Given the description of an element on the screen output the (x, y) to click on. 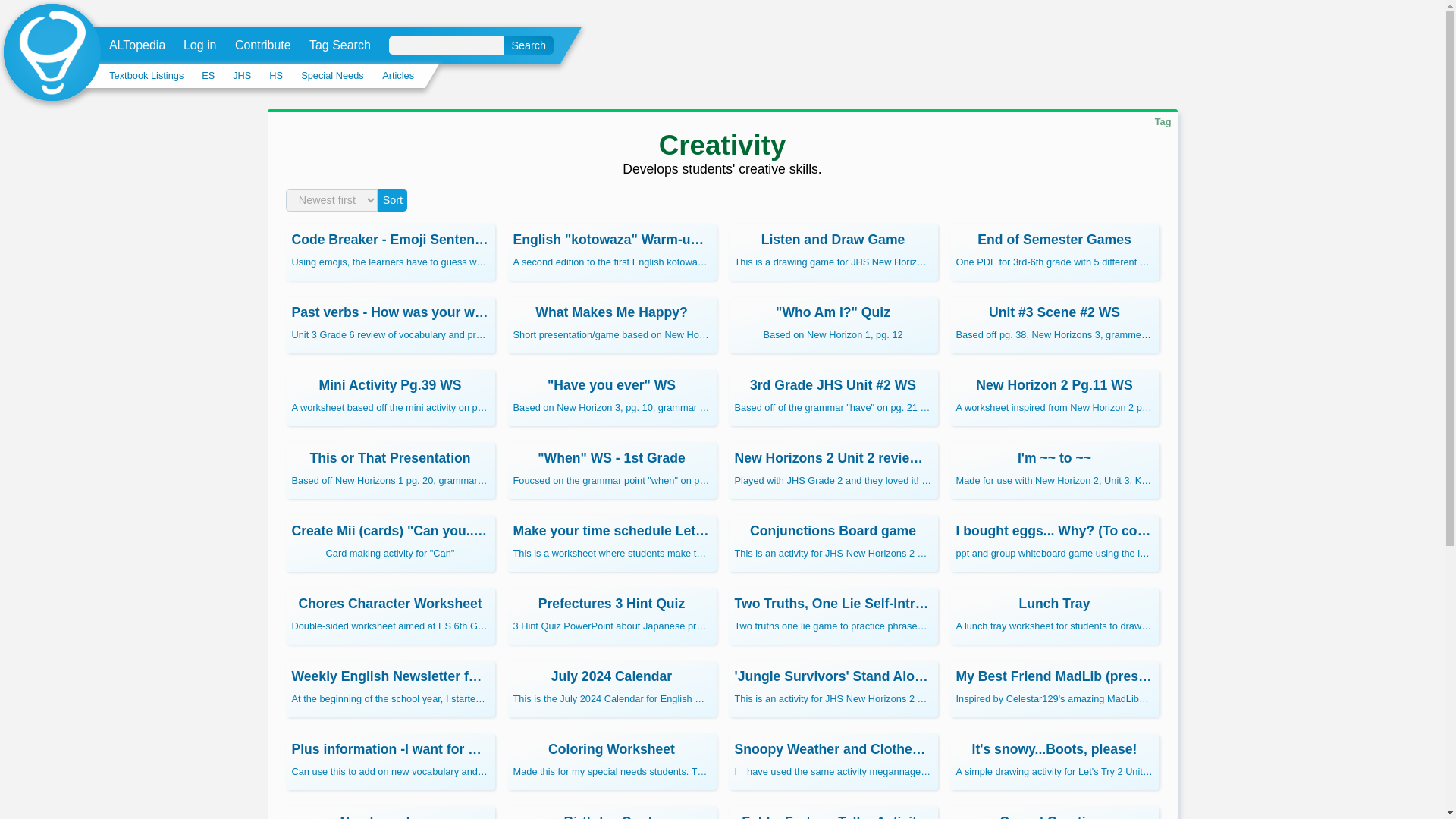
A worksheet inspired from New Horizon 2 pg. 11 (1053, 397)
Sort (392, 200)
Based off of the grammar "have" on pg. 21 in New Horizons 3  (832, 397)
Search (528, 45)
